Given the description of an element on the screen output the (x, y) to click on. 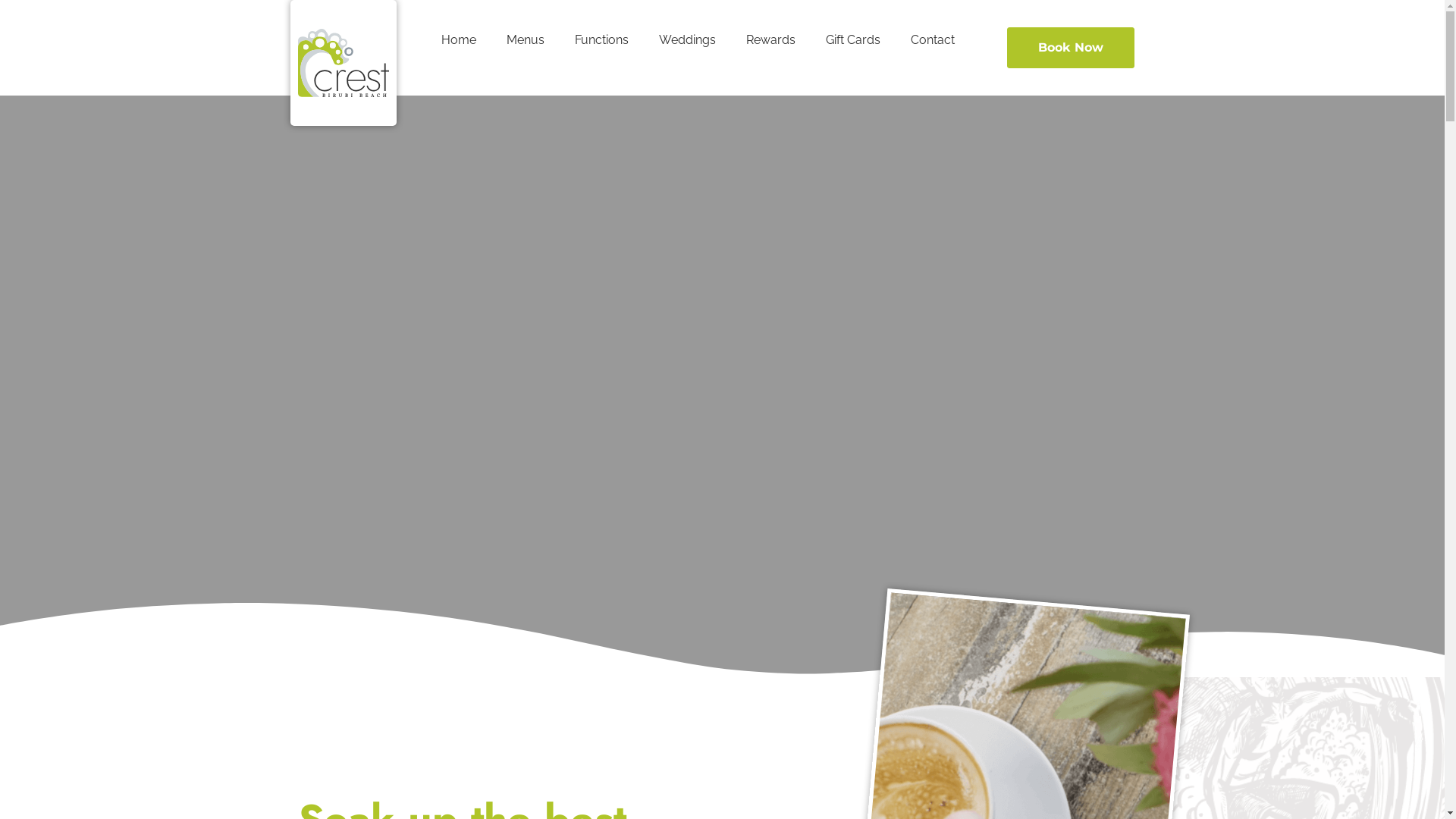
Functions Element type: text (601, 39)
Book Now Element type: text (1070, 47)
Contact Element type: text (932, 39)
Menus Element type: text (525, 39)
Gift Cards Element type: text (852, 39)
Rewards Element type: text (770, 39)
Home Element type: text (458, 39)
Weddings Element type: text (687, 39)
